Given the description of an element on the screen output the (x, y) to click on. 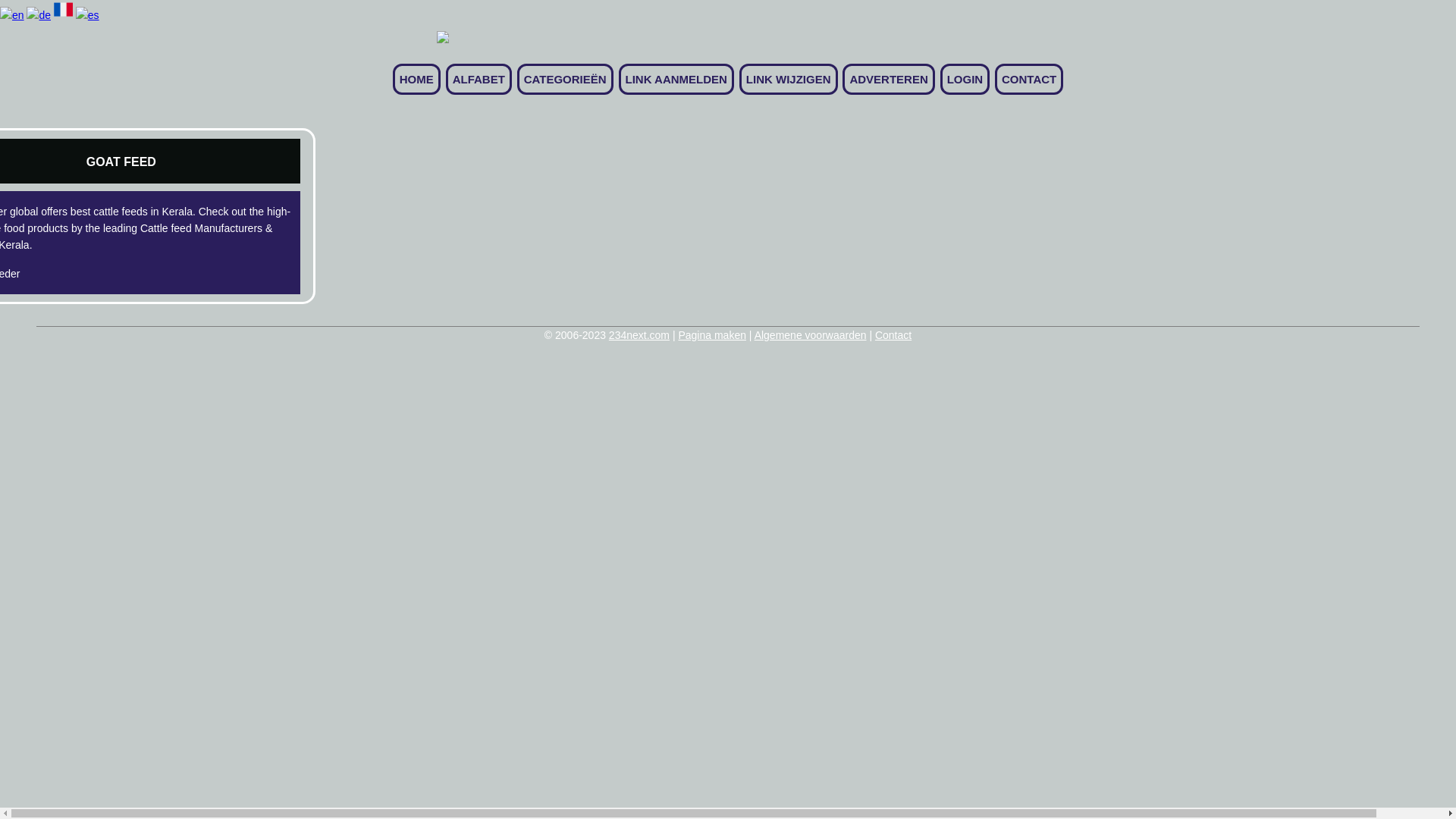
Contact Element type: text (893, 335)
Algemene voorwaarden Element type: text (810, 335)
LINK AANMELDEN Element type: text (676, 78)
ALFABET Element type: text (478, 78)
HOME Element type: text (416, 78)
ADVERTEREN Element type: text (888, 78)
LINK WIJZIGEN Element type: text (788, 78)
Pagina maken Element type: text (711, 335)
LOGIN Element type: text (965, 78)
CONTACT Element type: text (1028, 78)
234next.com Element type: text (638, 335)
